Given the description of an element on the screen output the (x, y) to click on. 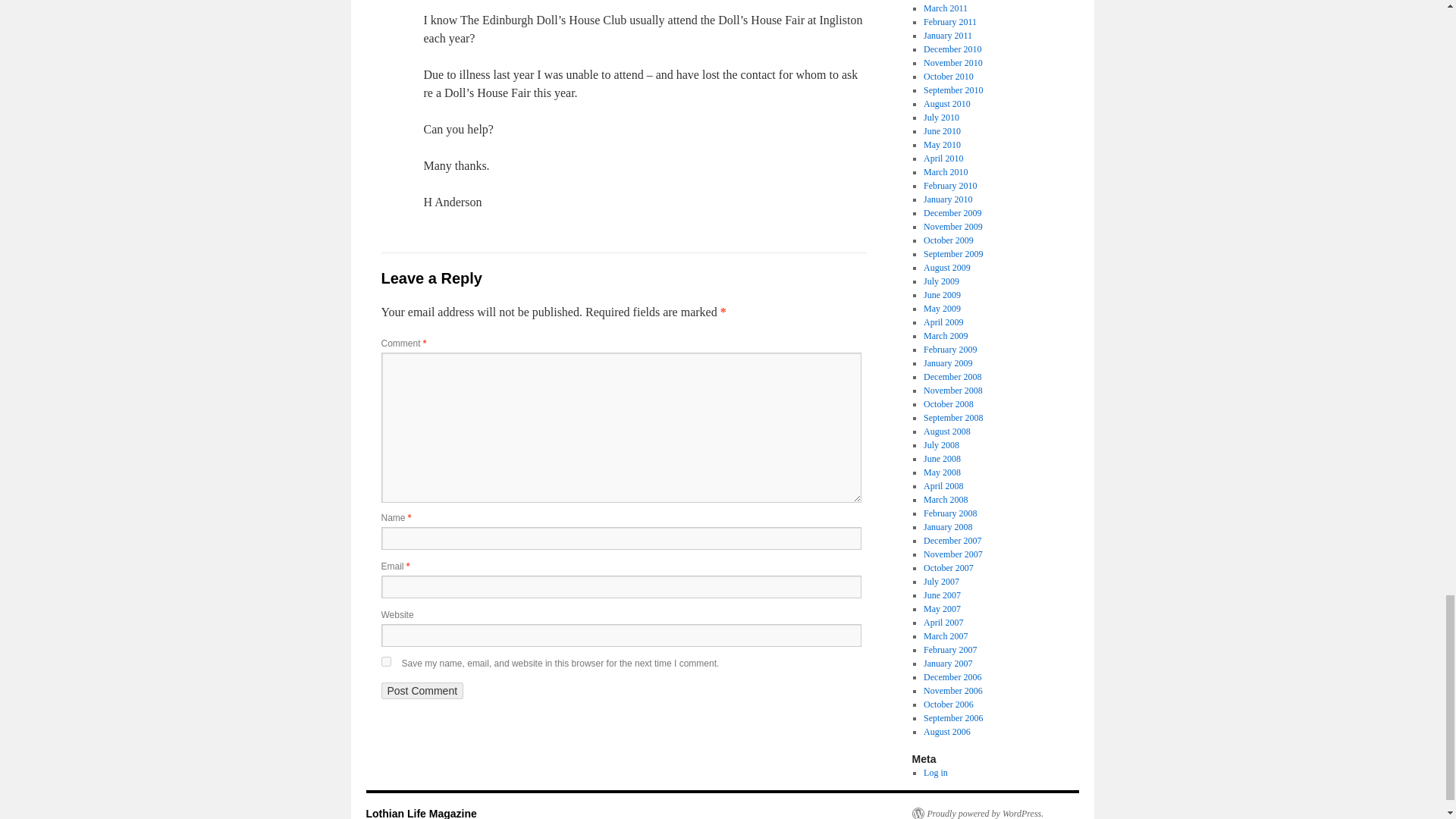
Post Comment (421, 690)
yes (385, 661)
Post Comment (421, 690)
